Given the description of an element on the screen output the (x, y) to click on. 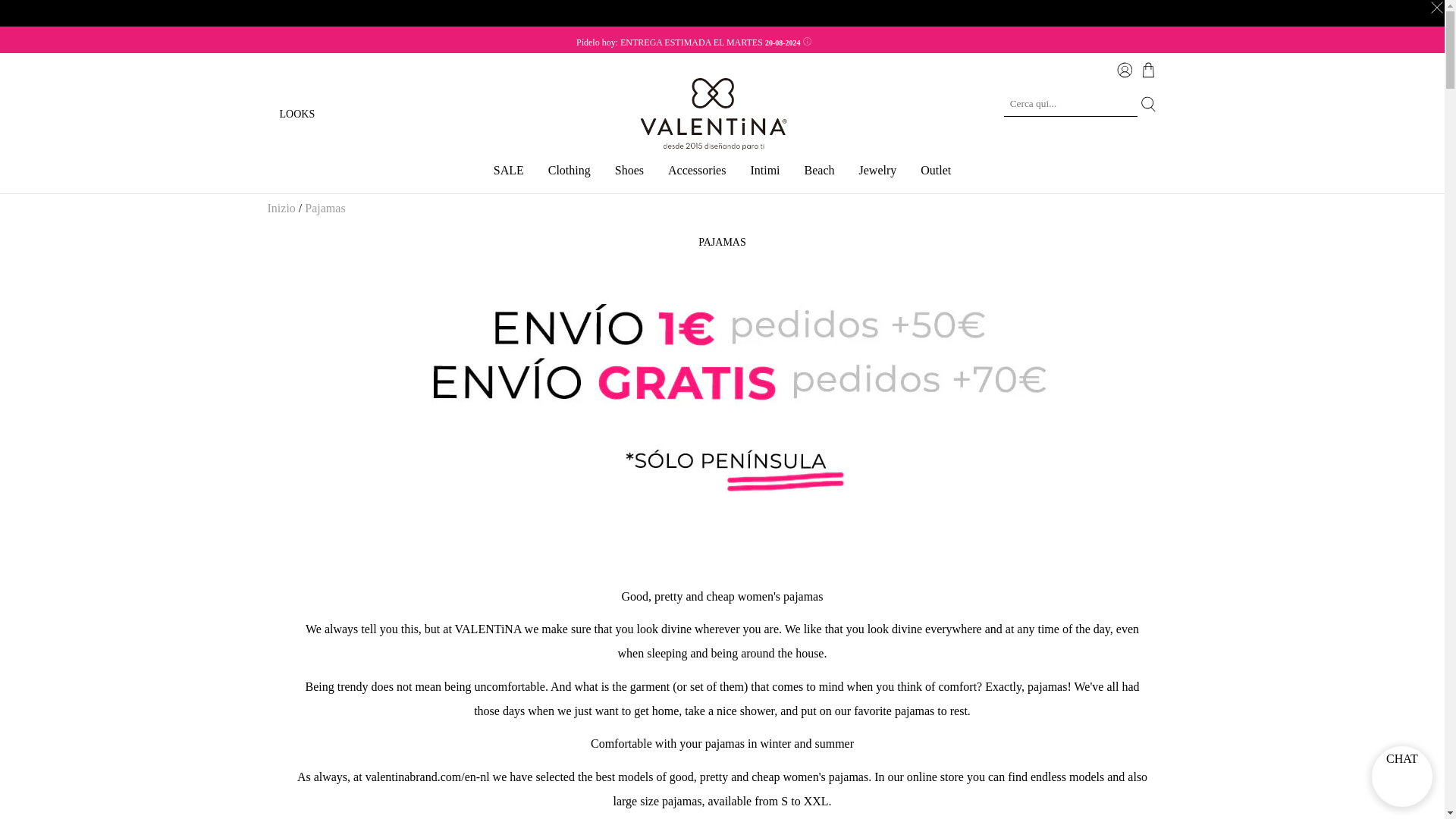
Inizio (280, 207)
LOOKS (296, 113)
Clothing (569, 176)
SALE (508, 176)
Pajamas (324, 207)
